Given the description of an element on the screen output the (x, y) to click on. 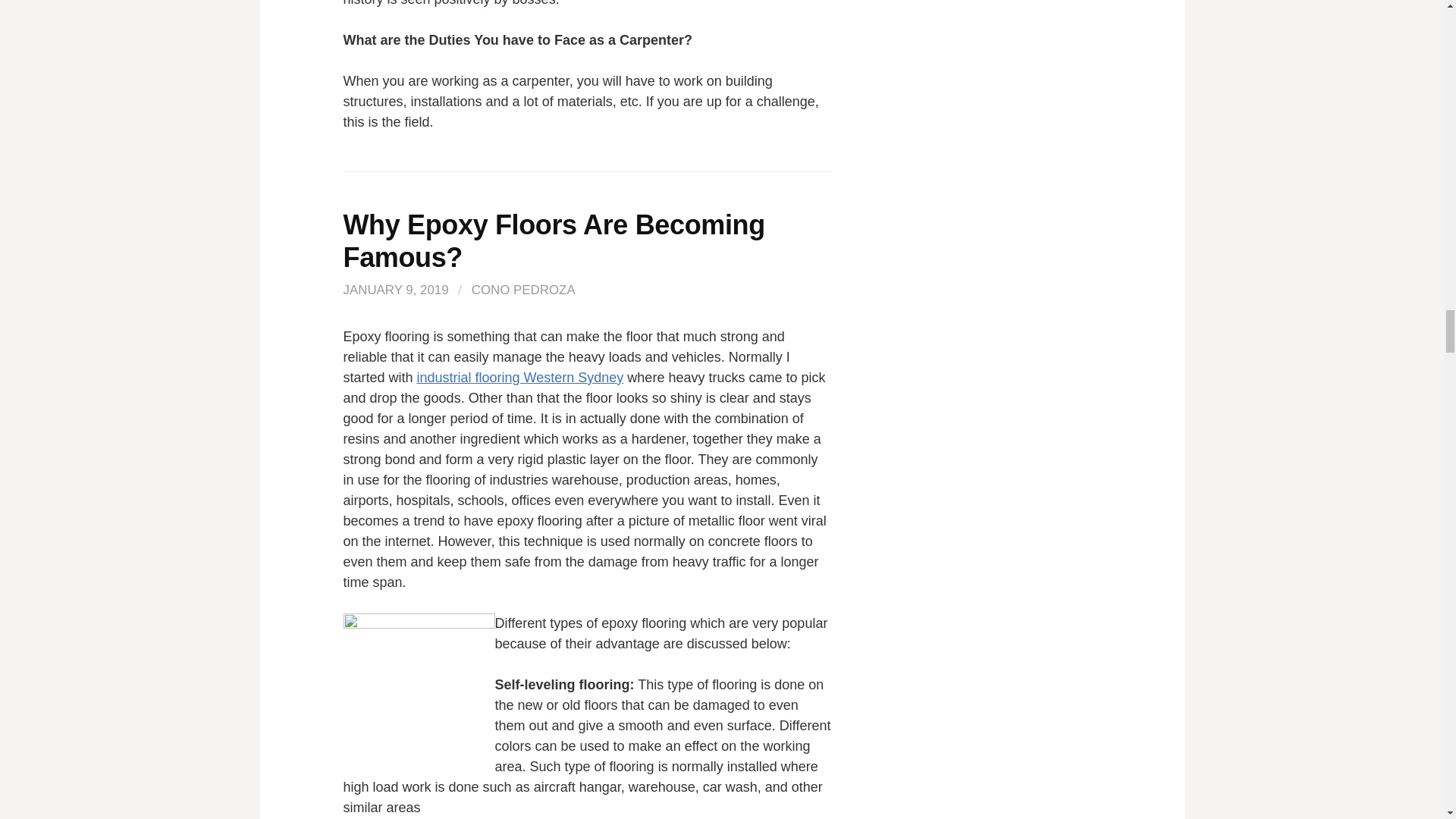
Why Epoxy Floors Are Becoming Famous? (553, 240)
mastercrete 1.jpg (418, 688)
JANUARY 9, 2019 (395, 289)
CONO PEDROZA (523, 289)
industrial flooring Western Sydney (520, 377)
